Given the description of an element on the screen output the (x, y) to click on. 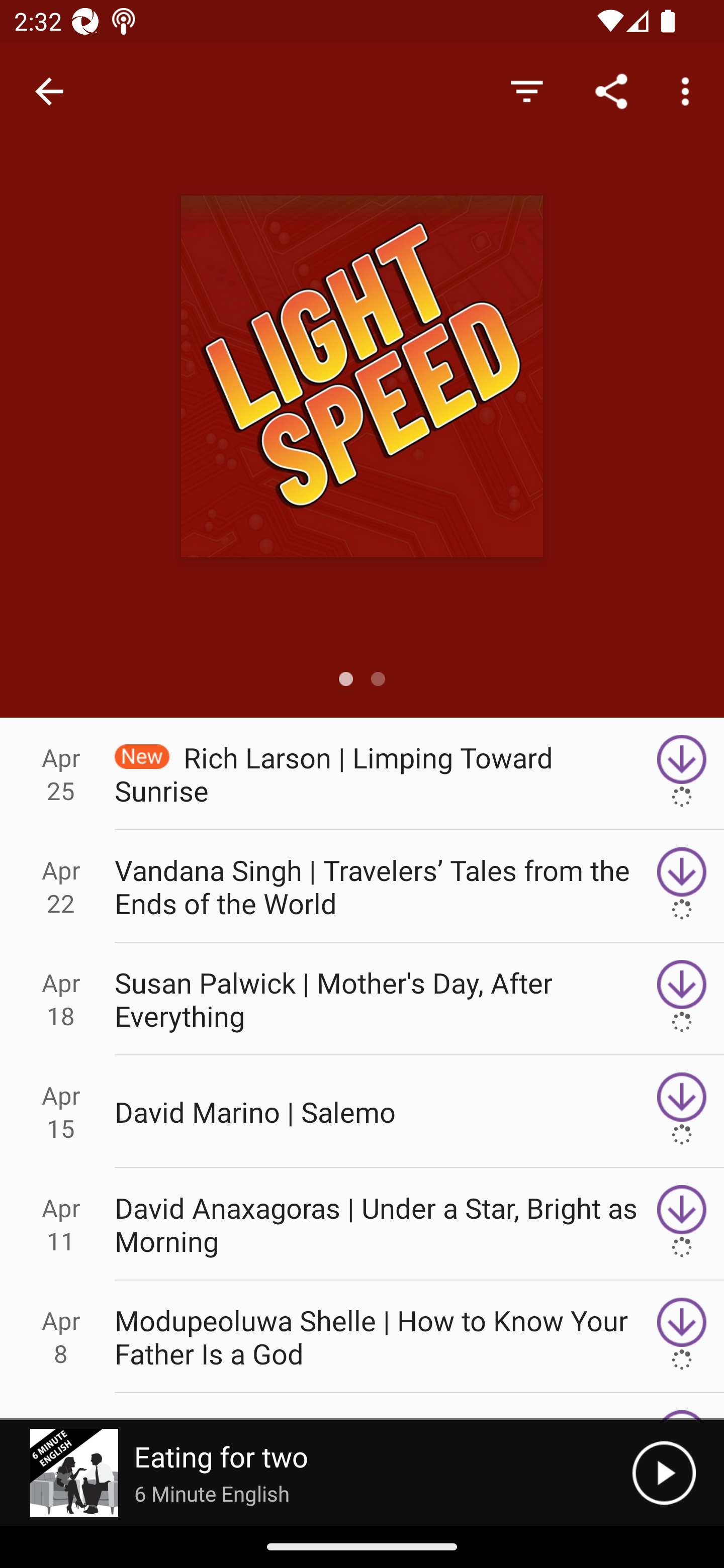
Navigate up (49, 91)
Hide Episodes (526, 90)
Share Link (611, 90)
More options (688, 90)
Download  (681, 773)
Download  (681, 885)
Download  (681, 998)
Apr 15 David Marino | Salemo Download  (362, 1111)
Download  (681, 1111)
Download  (681, 1224)
Download  (681, 1336)
Picture Eating for two 6 Minute English (316, 1472)
Play (663, 1472)
